Given the description of an element on the screen output the (x, y) to click on. 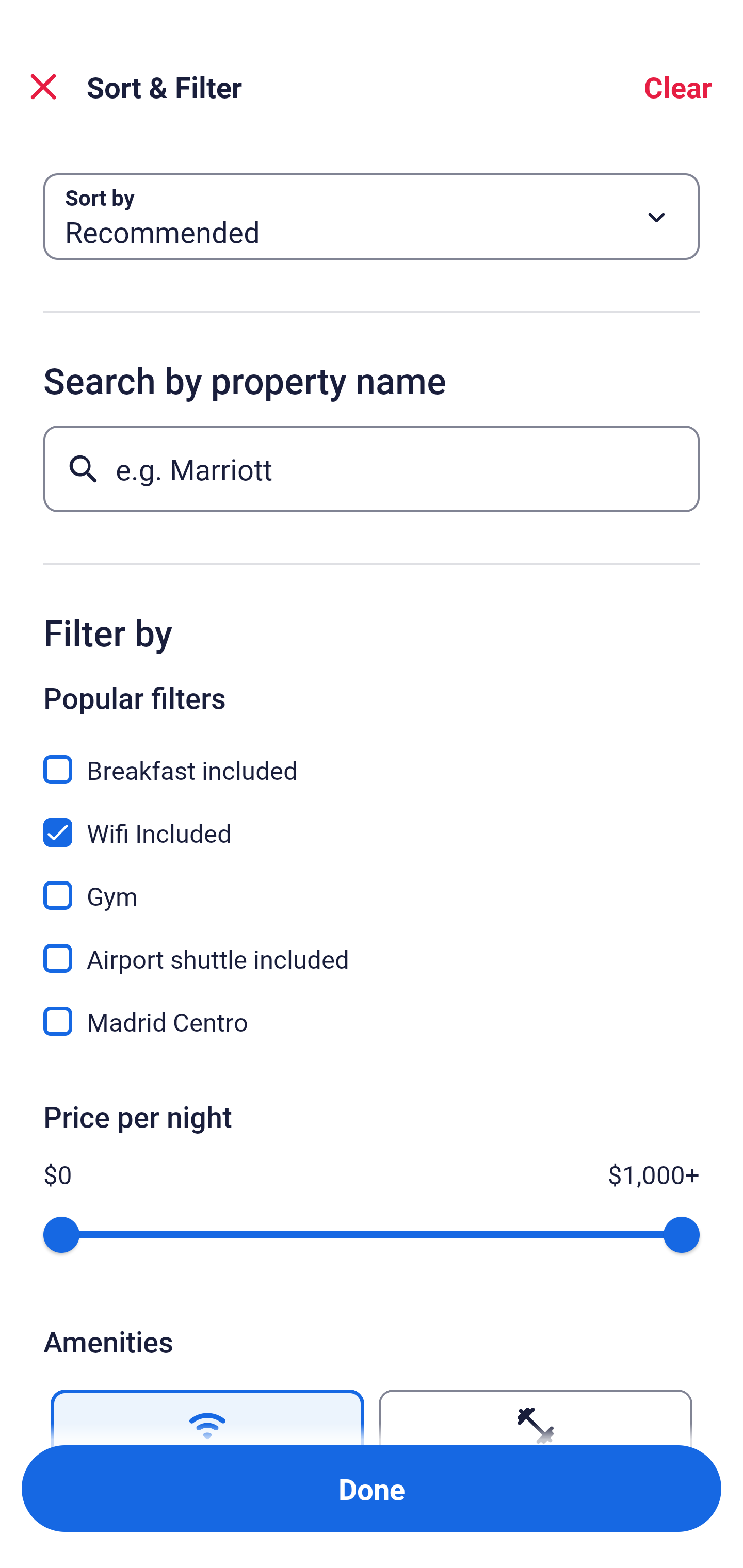
Close Sort and Filter (43, 86)
Clear (677, 86)
Sort by Button Recommended (371, 217)
e.g. Marriott Button (371, 468)
Breakfast included, Breakfast included (371, 757)
Wifi Included, Wifi Included (371, 821)
Gym, Gym (371, 883)
Airport shuttle included, Airport shuttle included (371, 946)
Madrid Centro, Madrid Centro (371, 1021)
Apply and close Sort and Filter Done (371, 1488)
